Given the description of an element on the screen output the (x, y) to click on. 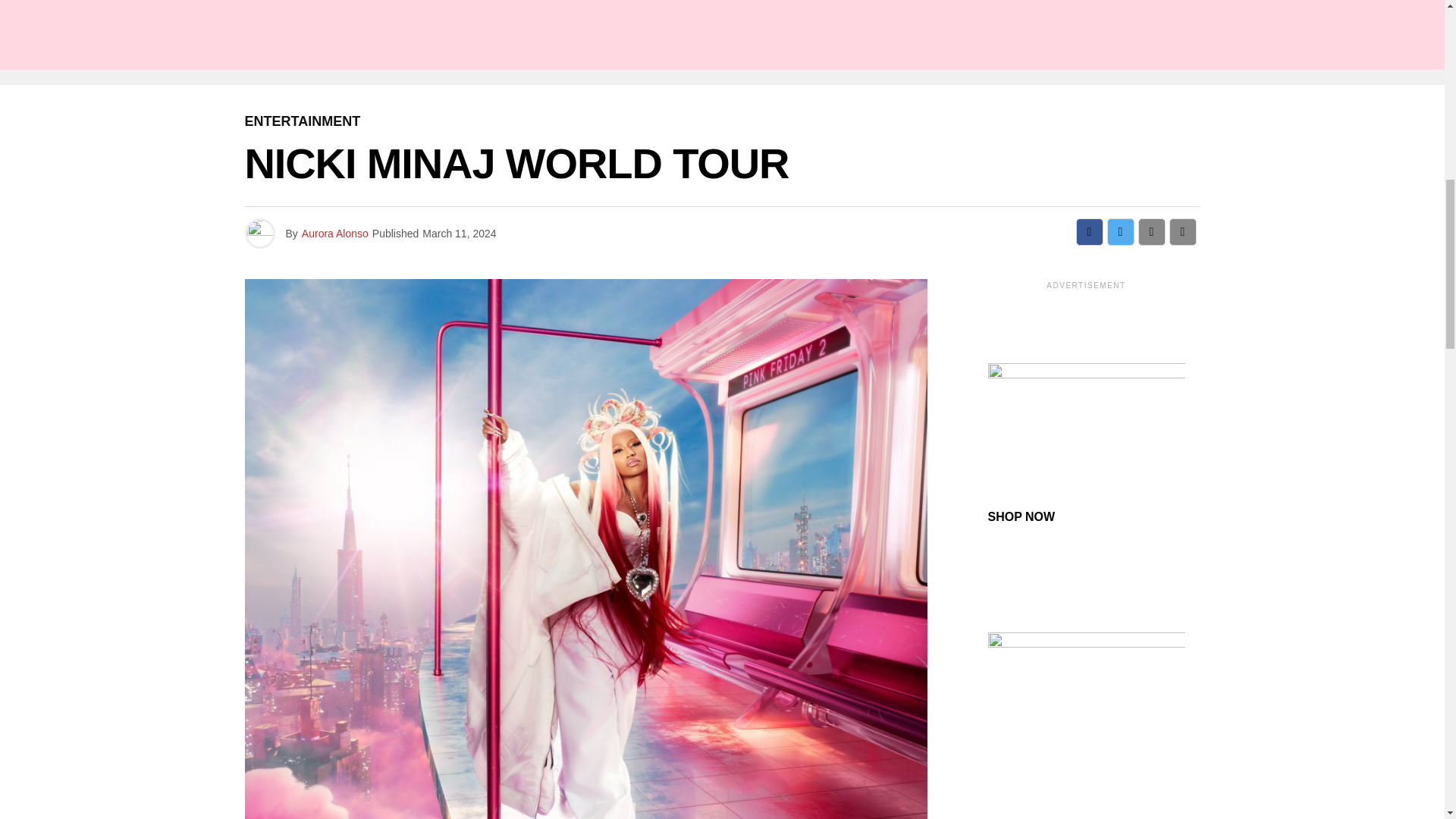
Aurora Alonso (334, 233)
Tweet This Post (1120, 231)
Share on Facebook (1088, 231)
Posts by Aurora Alonso (334, 233)
SHOP NOW (1020, 516)
ENTERTAINMENT (301, 121)
